Given the description of an element on the screen output the (x, y) to click on. 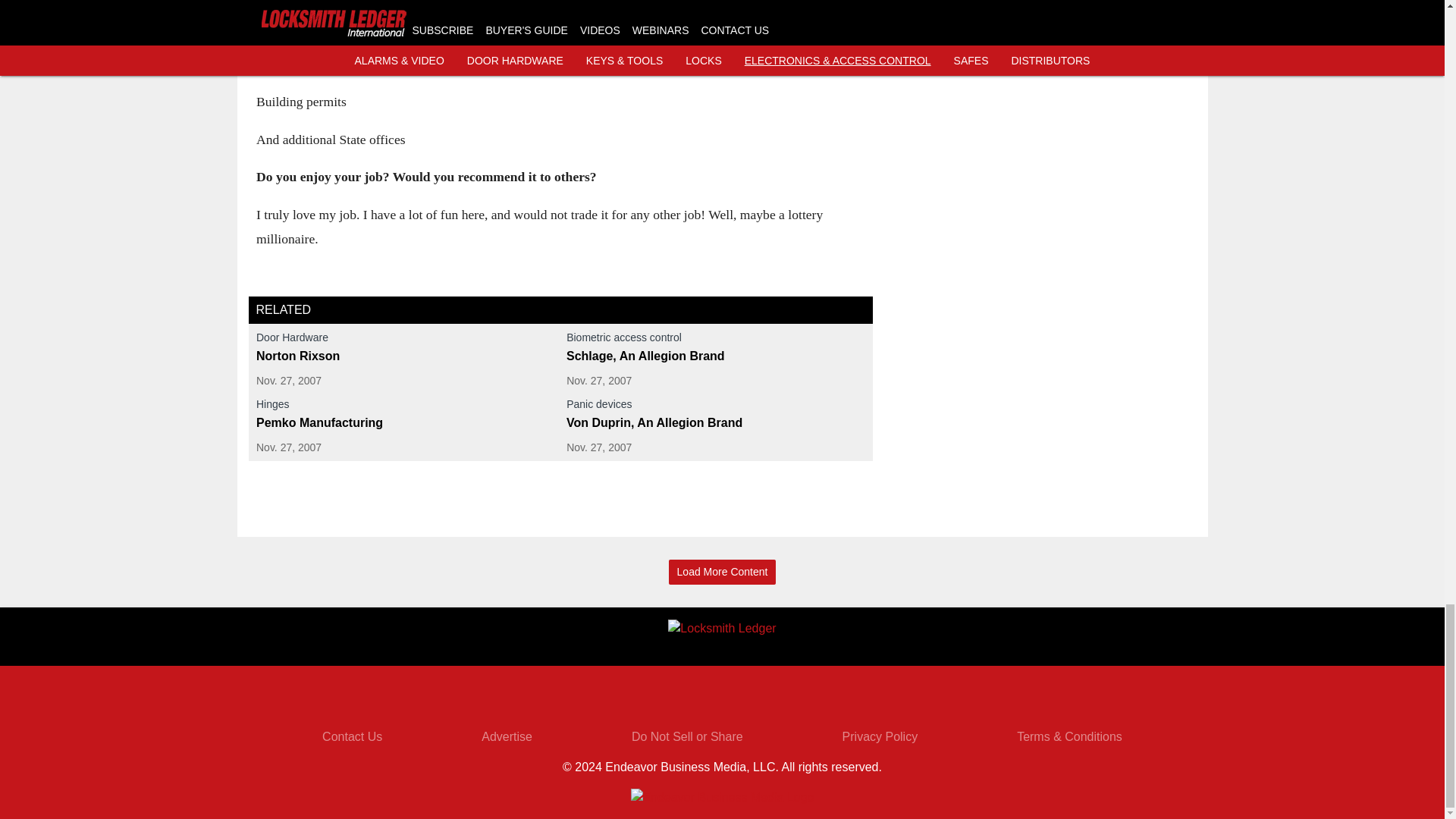
Von Duprin, An Allegion Brand (715, 422)
Panic devices (715, 407)
Norton Rixson (405, 356)
Hinges (405, 407)
Biometric access control (715, 340)
Door Hardware (405, 340)
Pemko Manufacturing (405, 422)
Schlage, An Allegion Brand (715, 356)
